Given the description of an element on the screen output the (x, y) to click on. 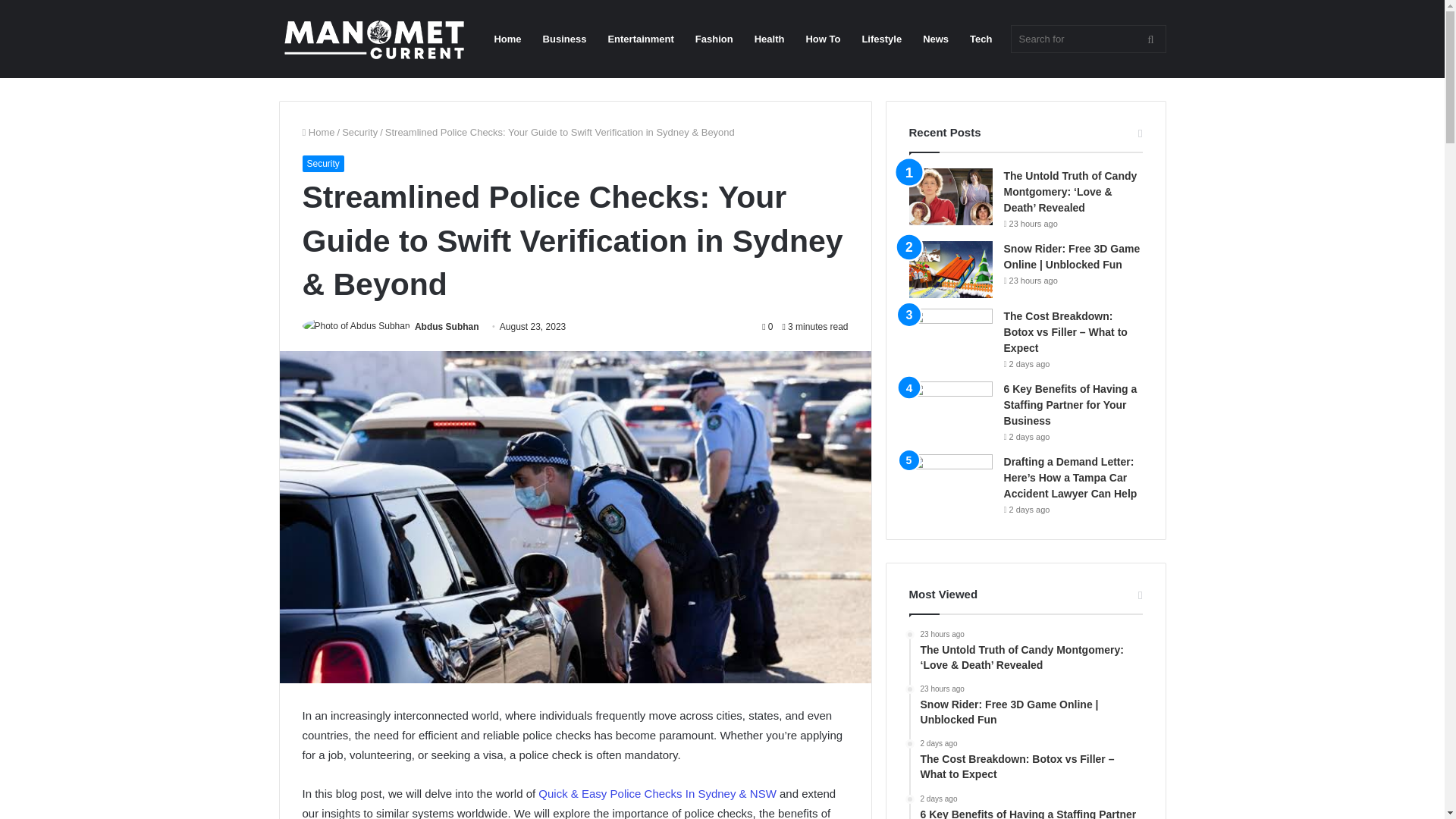
Search for (1088, 39)
Security (322, 163)
Abdus Subhan (446, 326)
Entertainment (640, 38)
Manometcurrent (373, 39)
Security (359, 132)
Abdus Subhan (446, 326)
Home (317, 132)
